Given the description of an element on the screen output the (x, y) to click on. 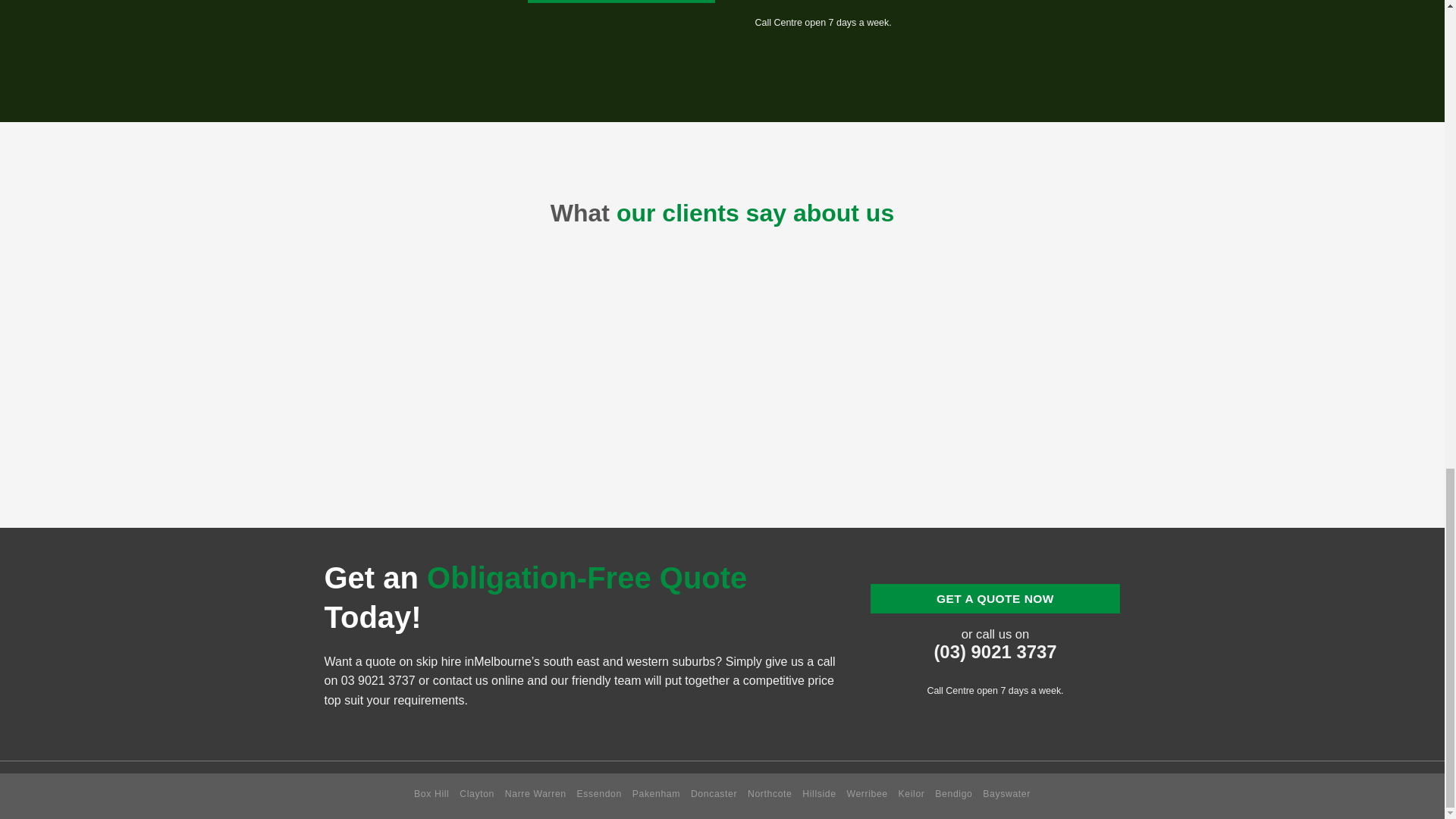
Box Hill (430, 793)
GET A QUOTE NOW (995, 598)
Clayton (477, 793)
Essendon (598, 793)
Narre Warren (535, 793)
GET A QUOTE NOW (620, 1)
03 9021 3737 (377, 680)
